Given the description of an element on the screen output the (x, y) to click on. 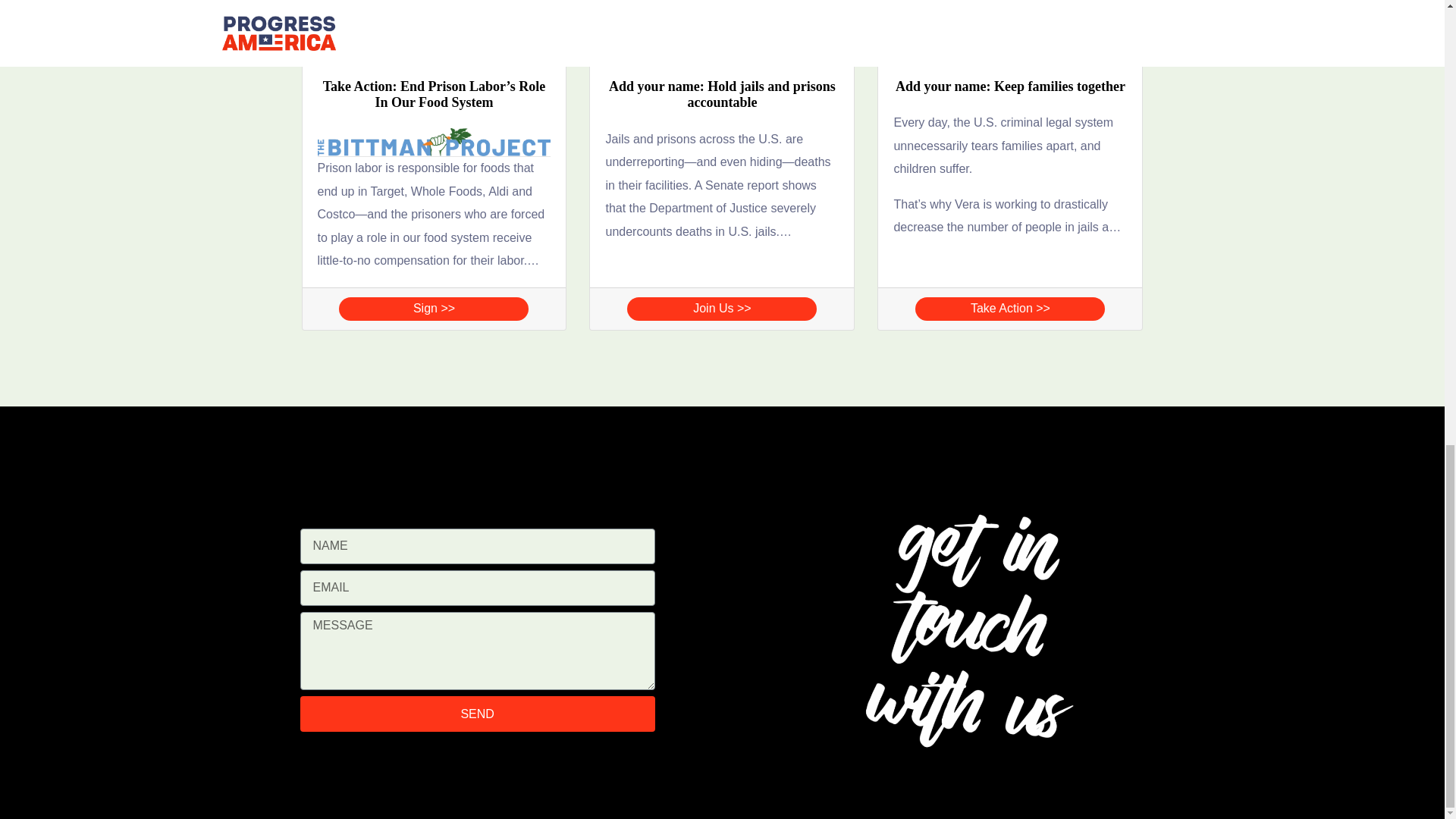
SEND (477, 714)
